Given the description of an element on the screen output the (x, y) to click on. 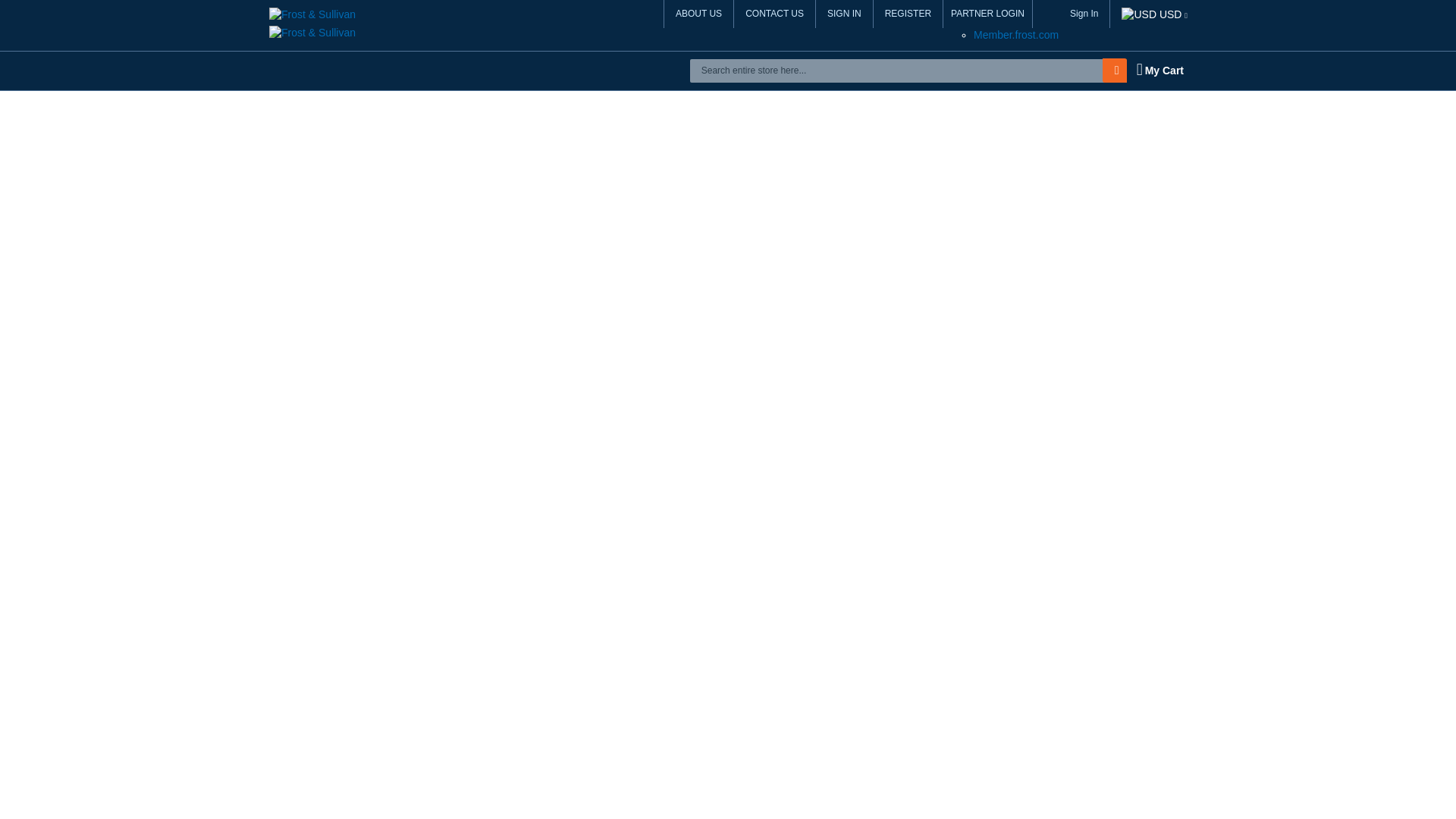
Sign In (1083, 13)
REGISTER (908, 13)
ABOUT US (698, 13)
My Cart (1159, 69)
PARTNER LOGIN (987, 13)
CONTACT US (774, 13)
SIGN IN (844, 13)
Member.frost.com (1016, 34)
